Given the description of an element on the screen output the (x, y) to click on. 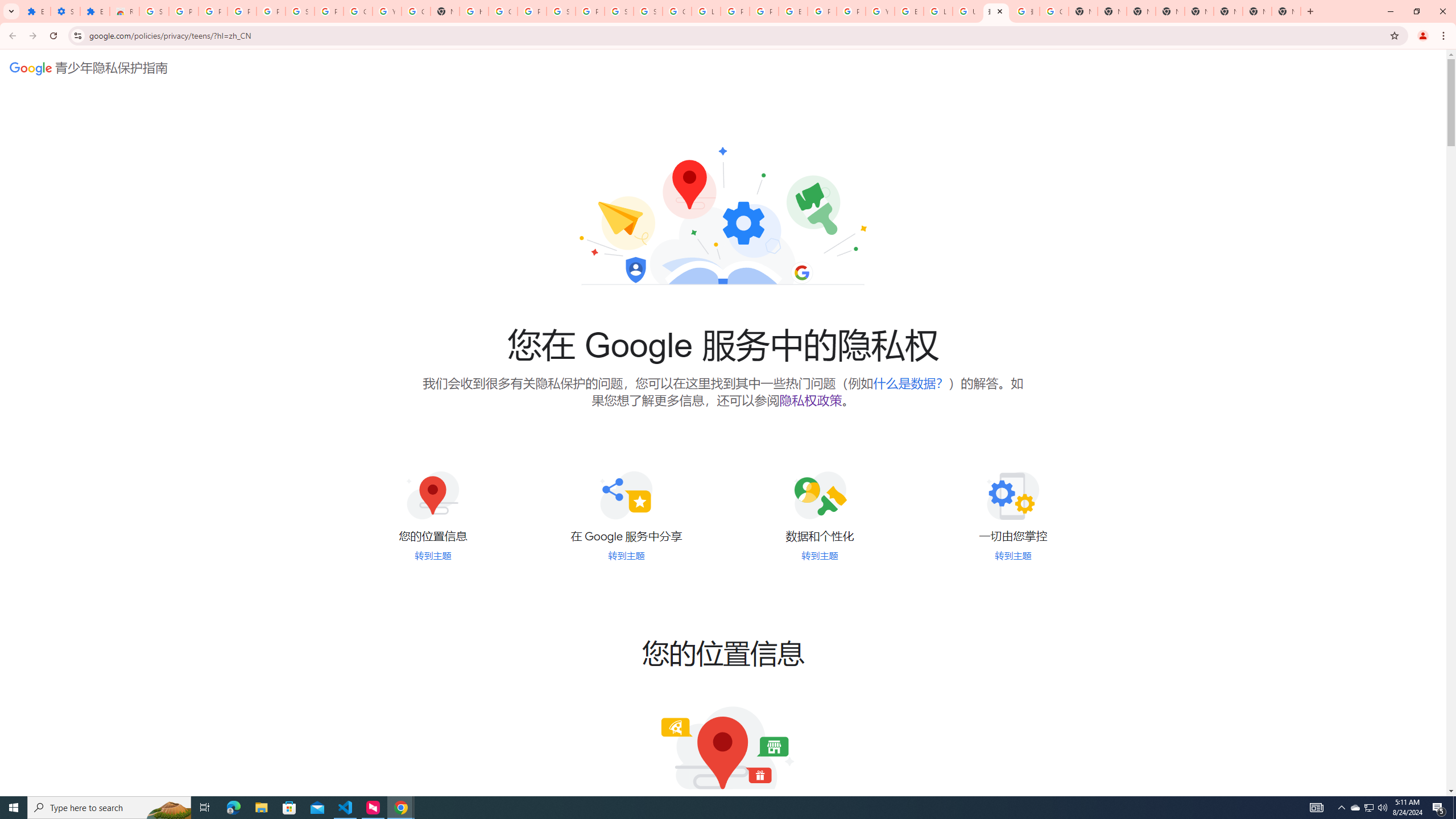
Extensions (35, 11)
Extensions (95, 11)
https://scholar.google.com/ (473, 11)
